Given the description of an element on the screen output the (x, y) to click on. 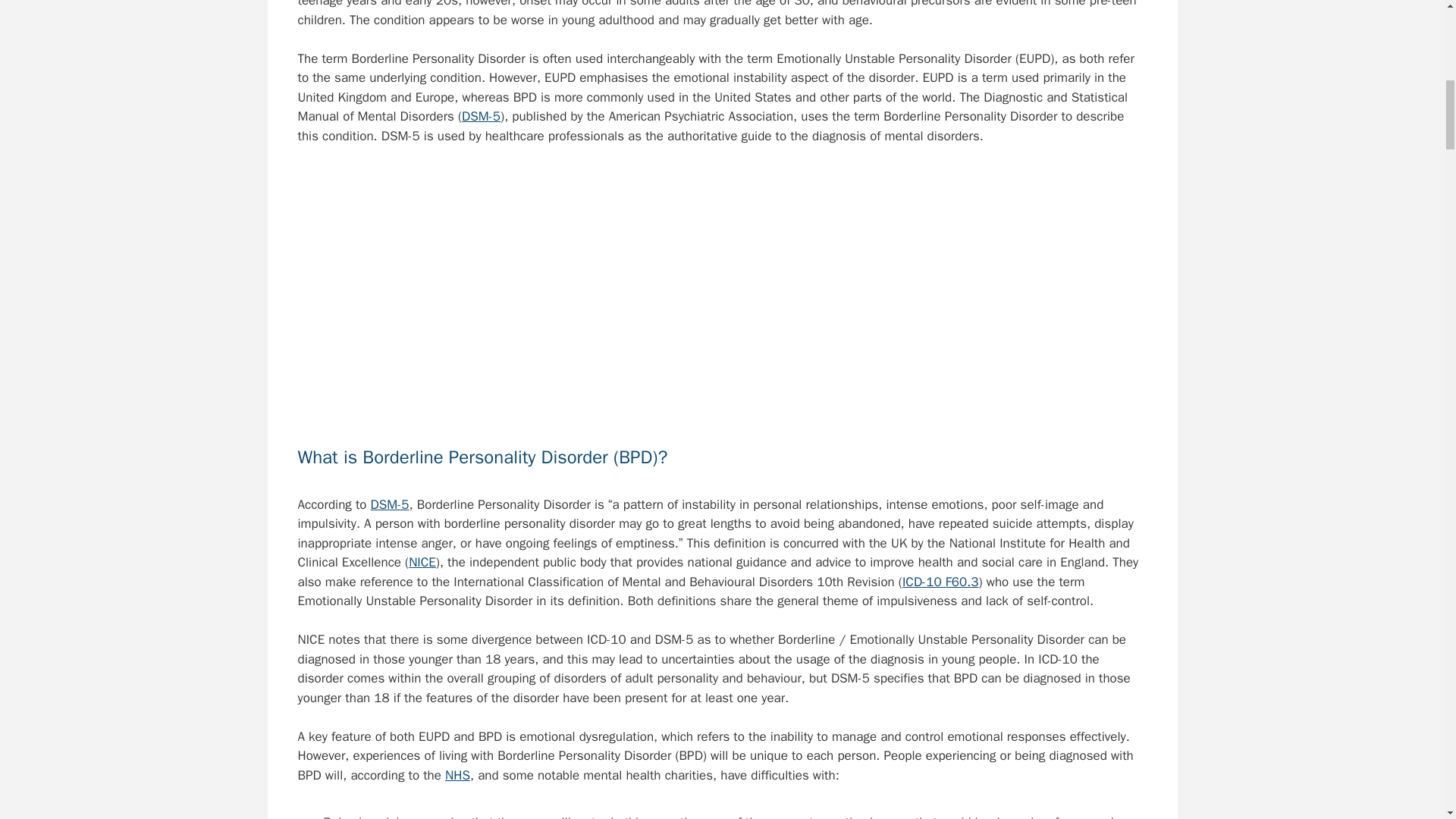
NHS (457, 774)
ICD-10 F60.3 (940, 581)
DSM-5 (480, 116)
DSM-5 (390, 504)
NICE (422, 562)
